Given the description of an element on the screen output the (x, y) to click on. 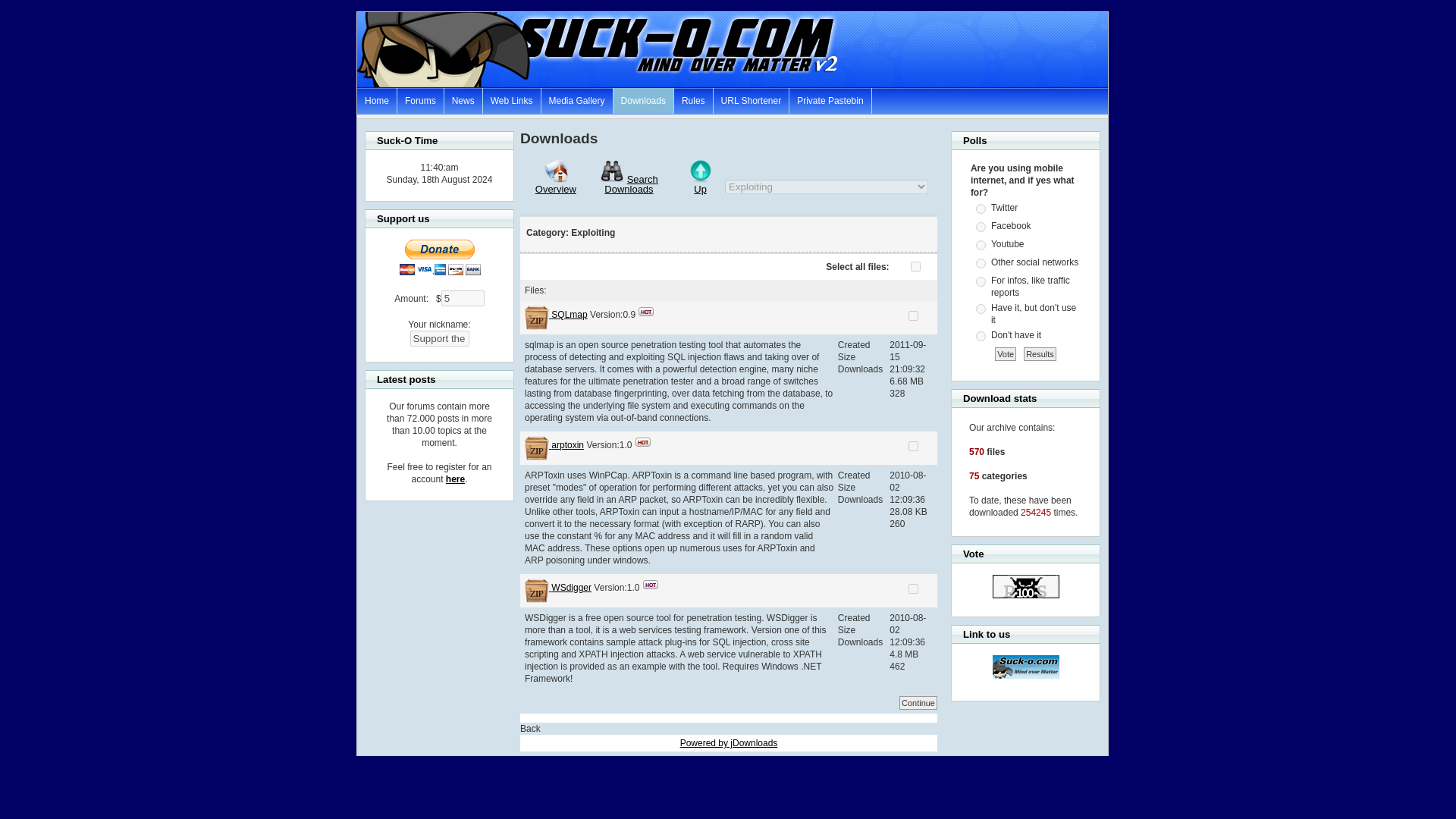
73 (980, 208)
SQLmap (568, 314)
here (454, 479)
Downloads (643, 100)
arptoxin (567, 444)
News (463, 100)
Back (529, 728)
Private Pastebin (829, 100)
74 (980, 226)
Web Links (512, 100)
